Given the description of an element on the screen output the (x, y) to click on. 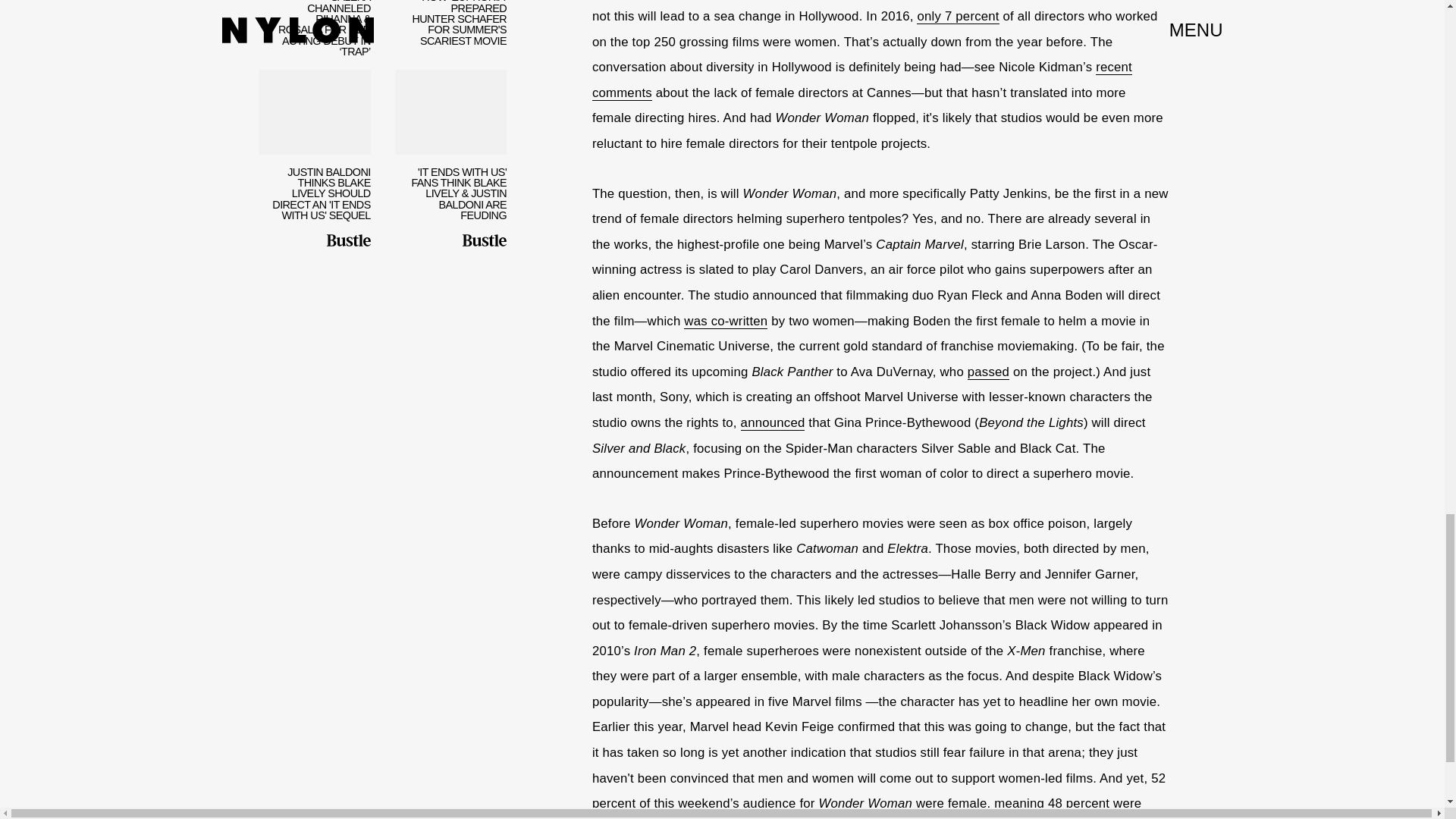
recent comments (862, 79)
passed (988, 372)
was co-written (725, 321)
only 7 percent (957, 16)
announced (773, 422)
